Given the description of an element on the screen output the (x, y) to click on. 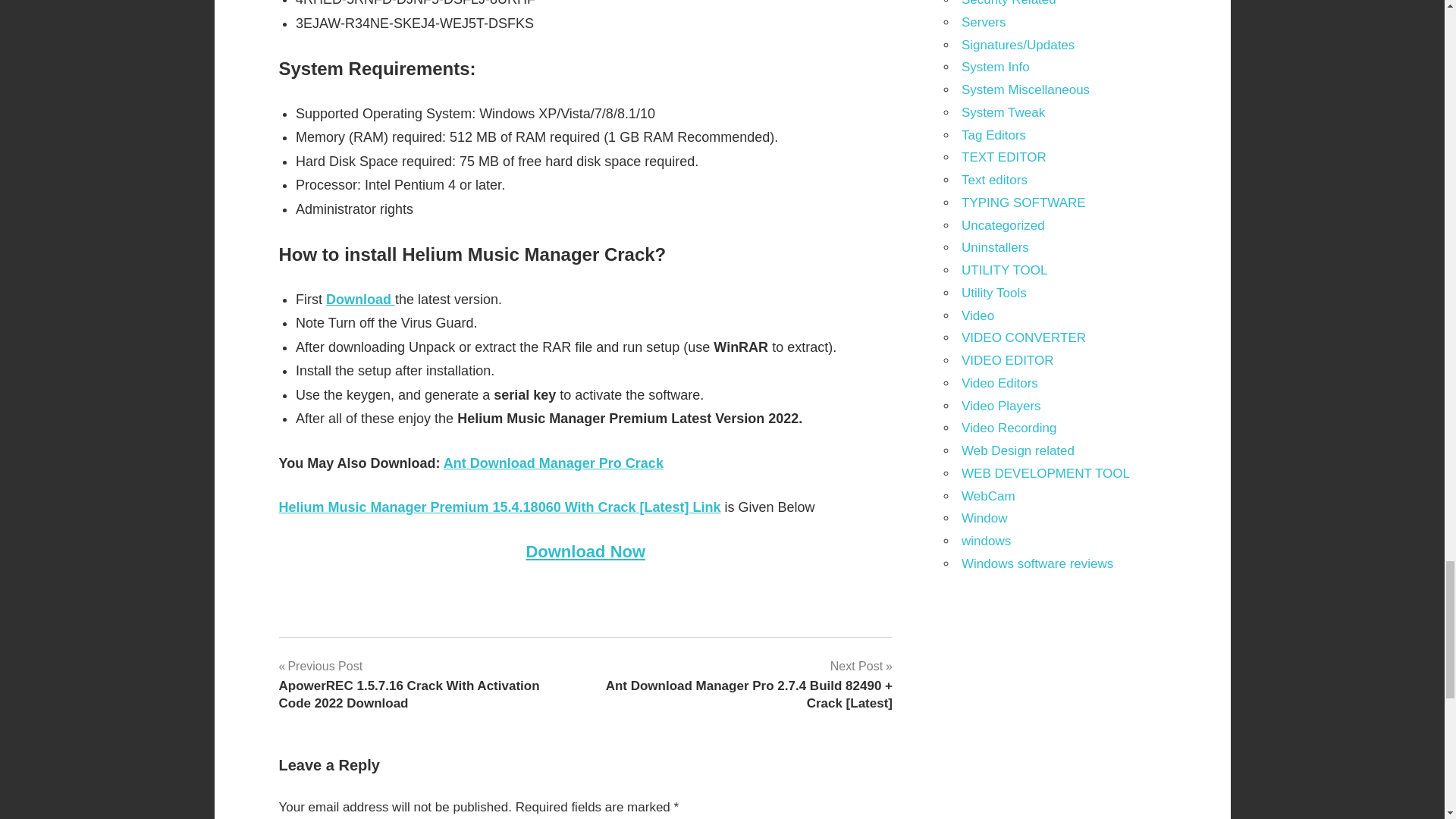
Ant Download Manager Pro Crack (553, 462)
Download Now (585, 551)
Download  (360, 299)
